Given the description of an element on the screen output the (x, y) to click on. 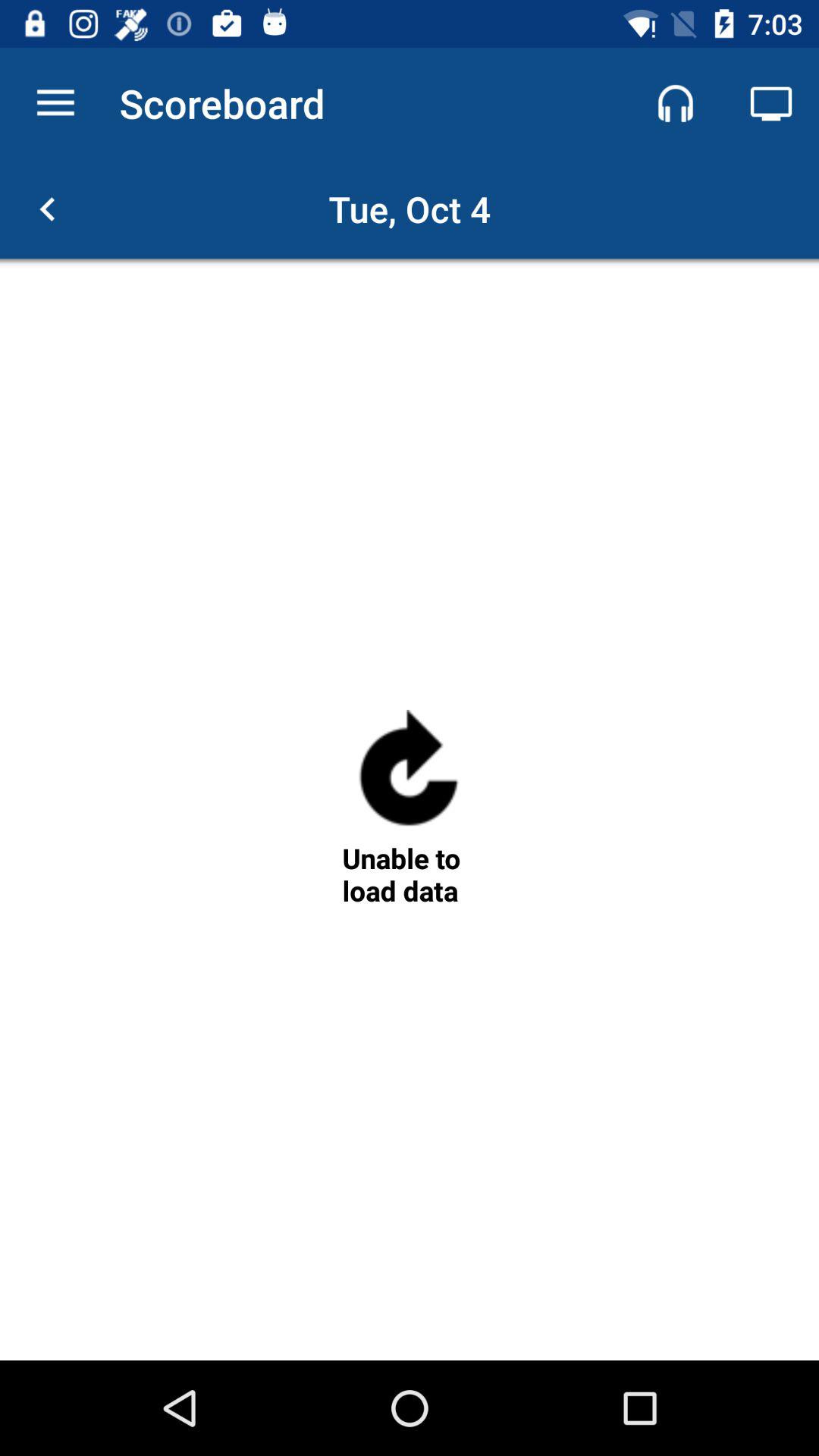
choose icon next to tue, oct 4 item (47, 208)
